Given the description of an element on the screen output the (x, y) to click on. 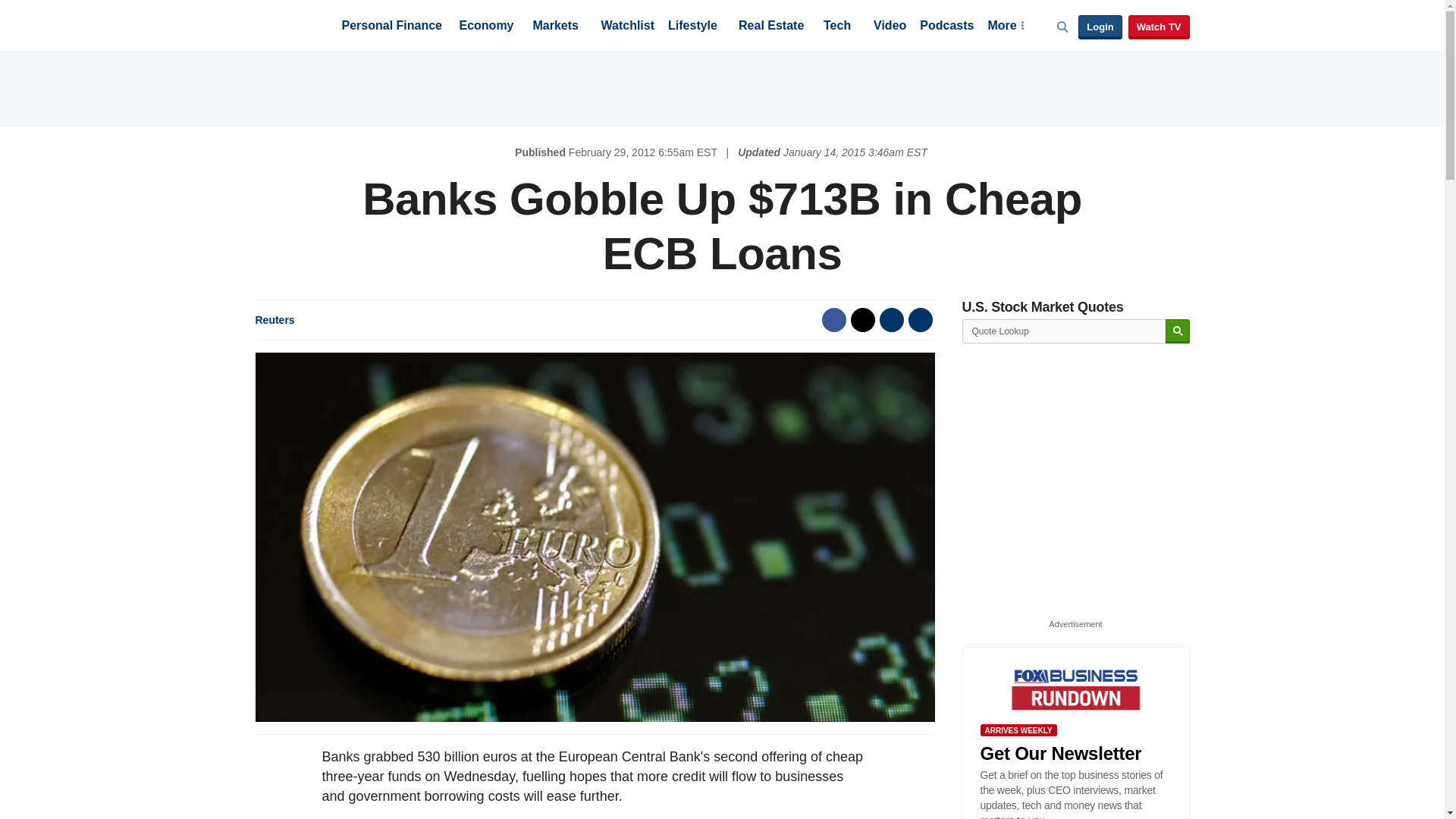
More (1005, 27)
Video (889, 27)
Podcasts (947, 27)
Search (1176, 331)
Lifestyle (692, 27)
Fox Business (290, 24)
Personal Finance (391, 27)
Watch TV (1158, 27)
Search (1176, 331)
Markets (555, 27)
